Given the description of an element on the screen output the (x, y) to click on. 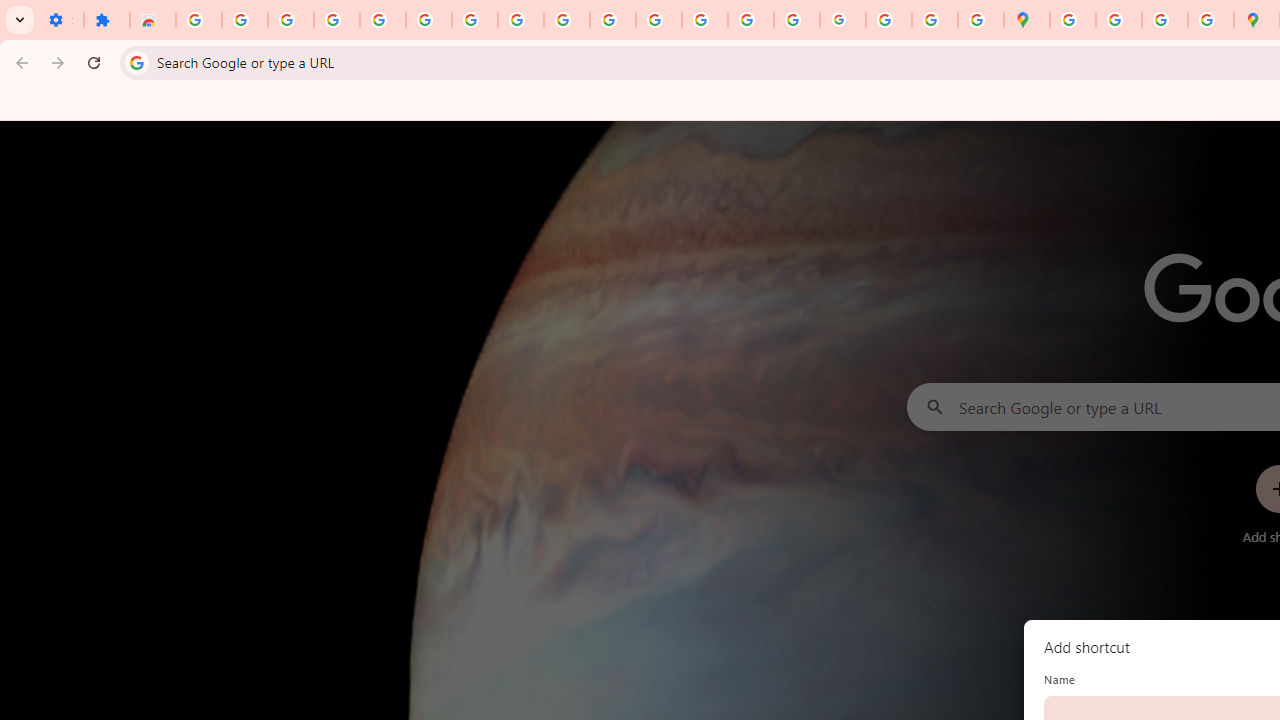
Reviews: Helix Fruit Jump Arcade Game (153, 20)
Google Maps (1026, 20)
Learn how to find your photos - Google Photos Help (336, 20)
Delete photos & videos - Computer - Google Photos Help (290, 20)
https://scholar.google.com/ (659, 20)
Sign in - Google Accounts (198, 20)
